Given the description of an element on the screen output the (x, y) to click on. 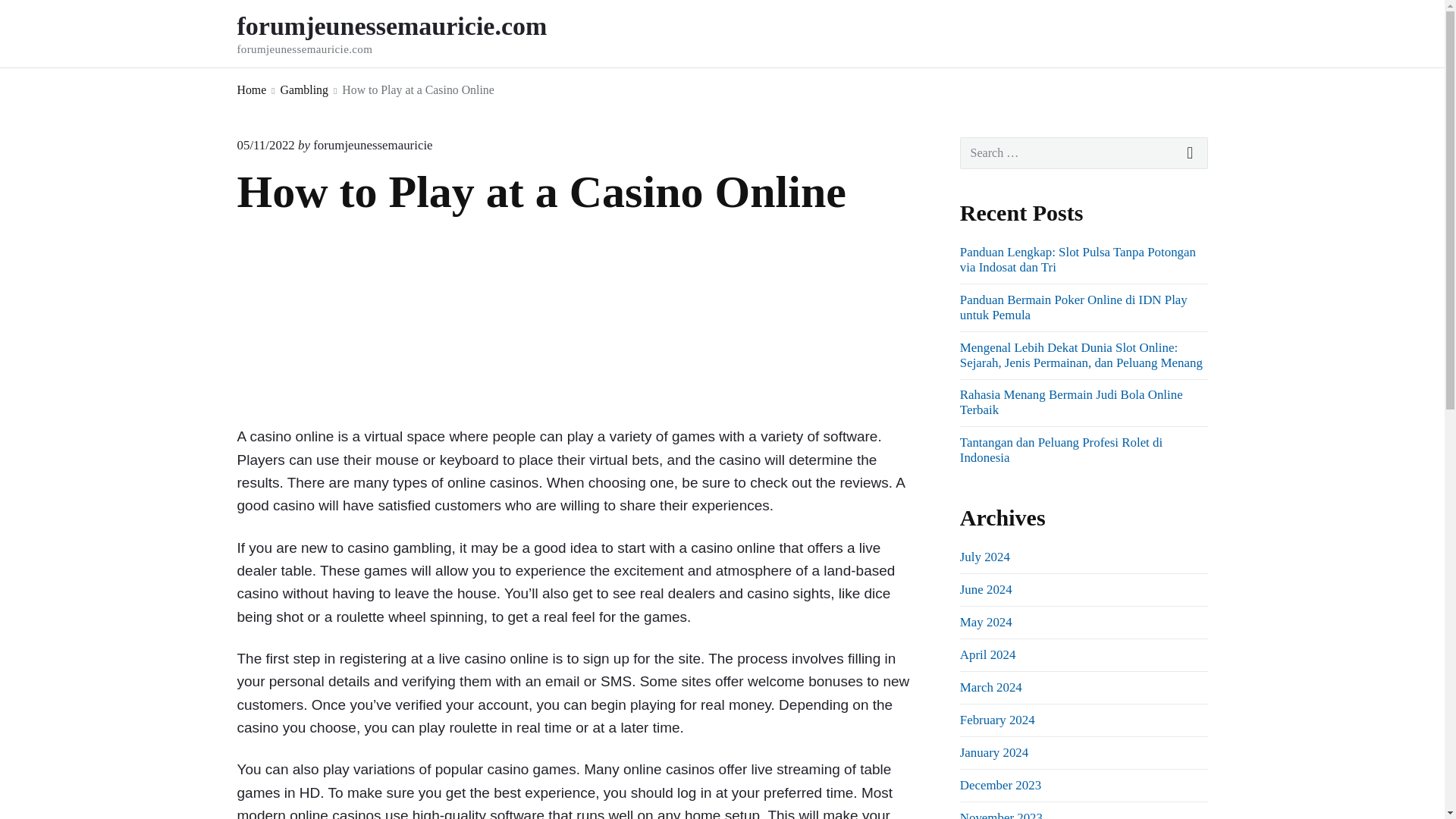
Tantangan dan Peluang Profesi Rolet di Indonesia (1060, 449)
Rahasia Menang Bermain Judi Bola Online Terbaik (1070, 401)
January 2024 (993, 752)
Gambling (305, 89)
Search for: (1083, 152)
June 2024 (411, 33)
forumjeunessemauricie (985, 589)
May 2024 (372, 145)
December 2023 (985, 622)
March 2024 (1000, 785)
Saturday, November 5, 2022, 12:23 am (990, 687)
Panduan Bermain Poker Online di IDN Play untuk Pemula (264, 145)
